Given the description of an element on the screen output the (x, y) to click on. 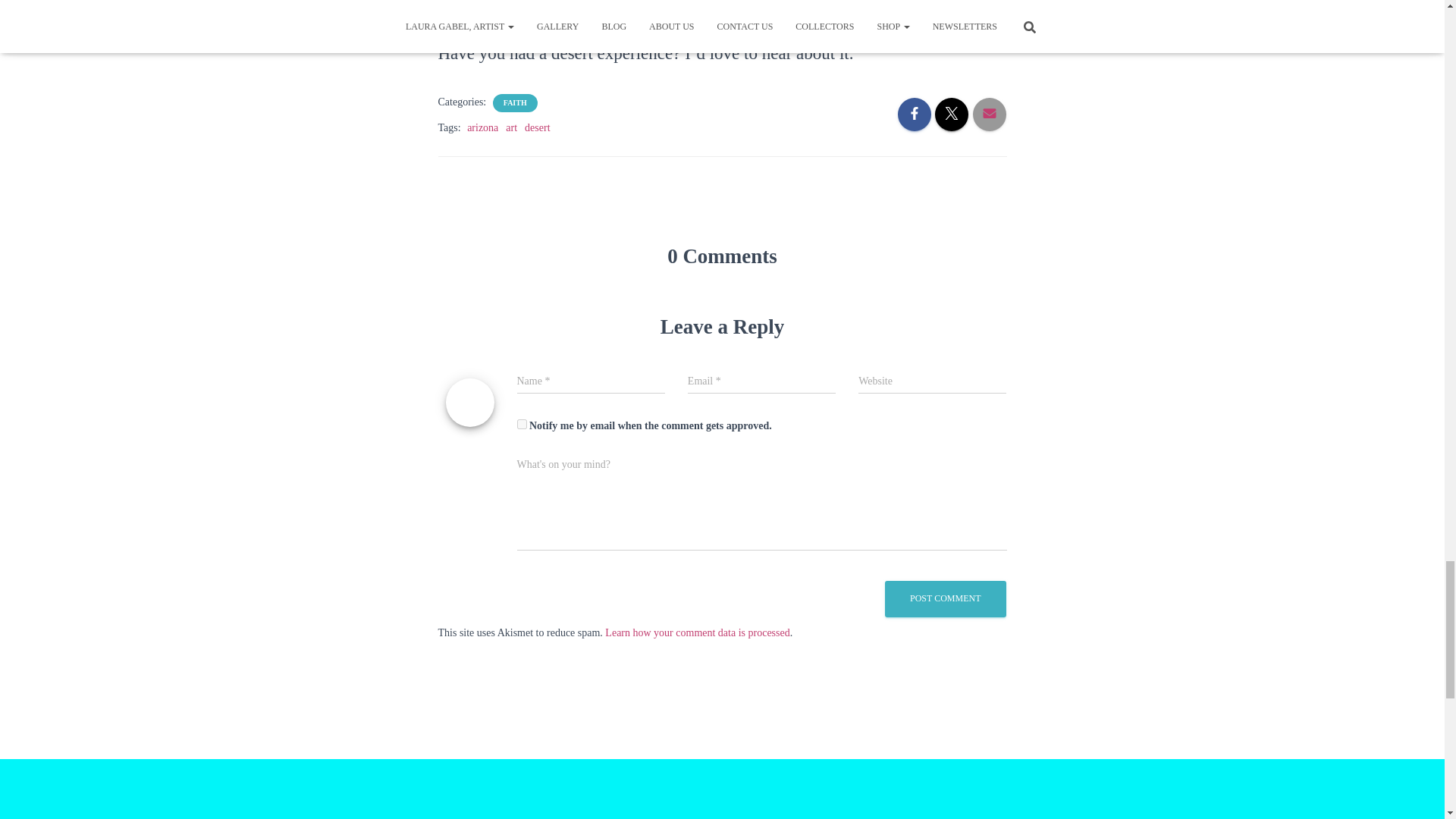
Post Comment (945, 598)
FAITH (515, 102)
1 (521, 424)
art (510, 127)
arizona (482, 127)
desert (537, 127)
